Given the description of an element on the screen output the (x, y) to click on. 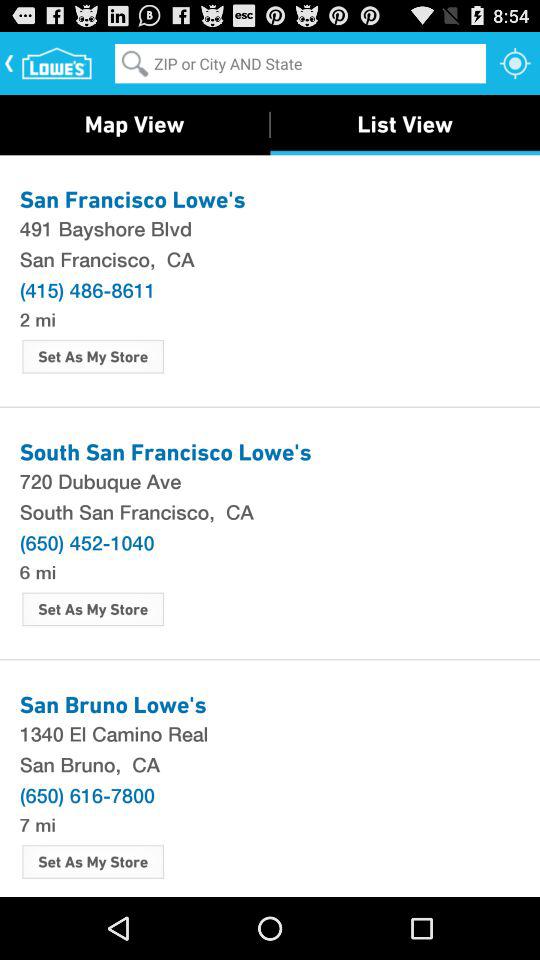
jump to the 1340 el camino (269, 733)
